Given the description of an element on the screen output the (x, y) to click on. 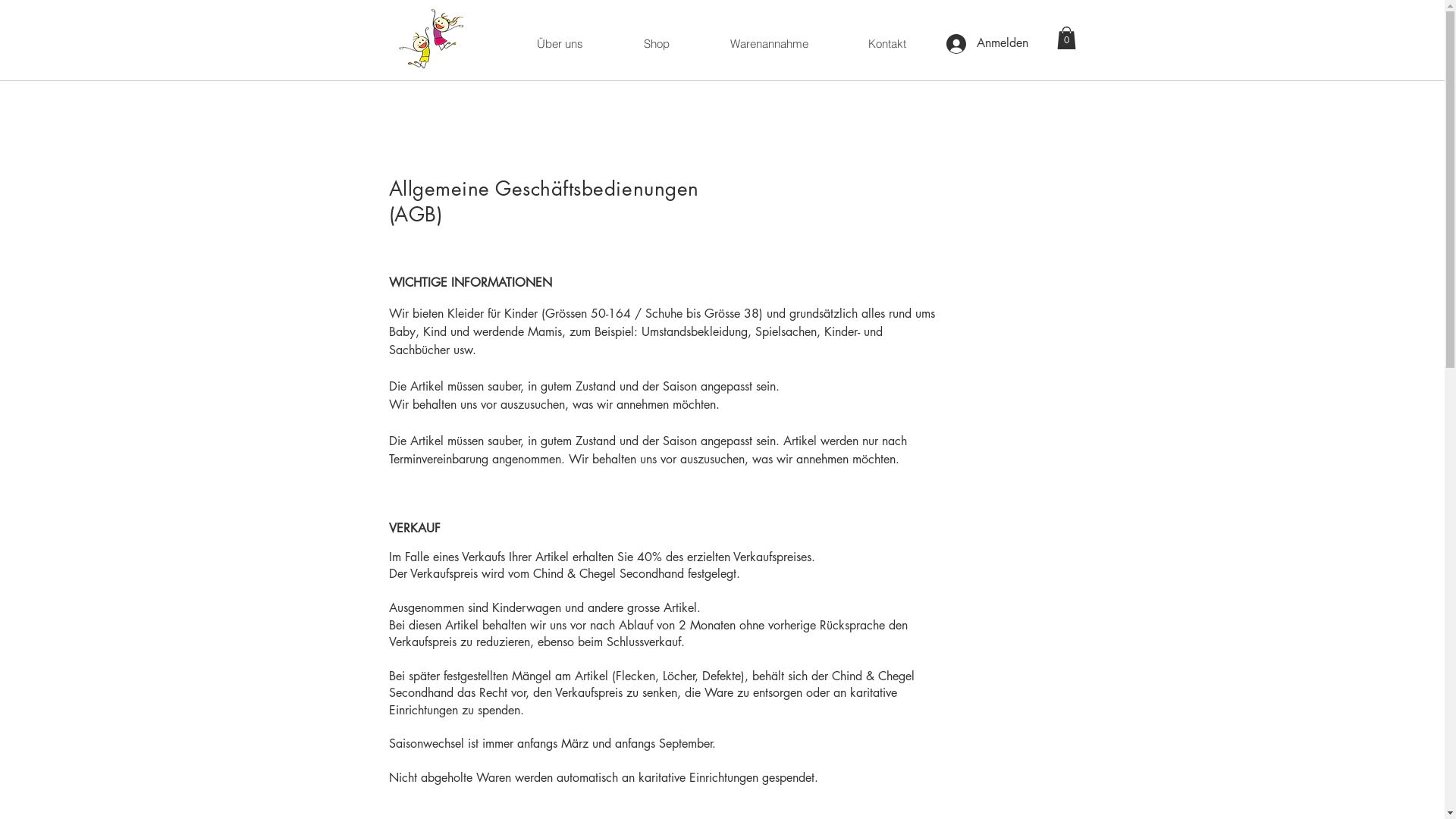
Shop Element type: text (655, 43)
Kontakt Element type: text (886, 43)
Warenannahme Element type: text (768, 43)
Anmelden Element type: text (983, 42)
0 Element type: text (1066, 37)
